Given the description of an element on the screen output the (x, y) to click on. 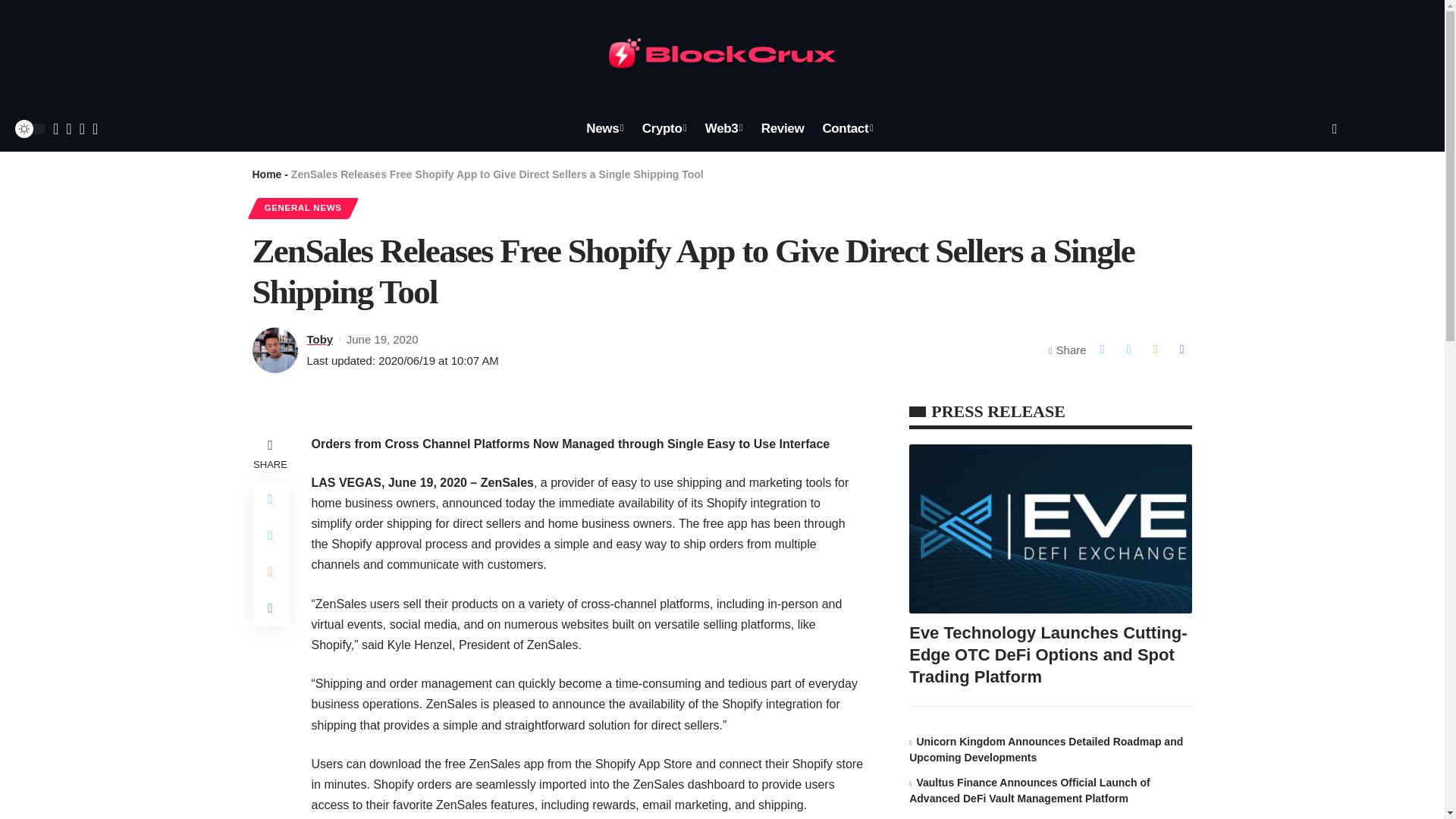
News (603, 128)
Contact (847, 128)
Review (782, 128)
Web3 (723, 128)
Crypto (664, 128)
